Given the description of an element on the screen output the (x, y) to click on. 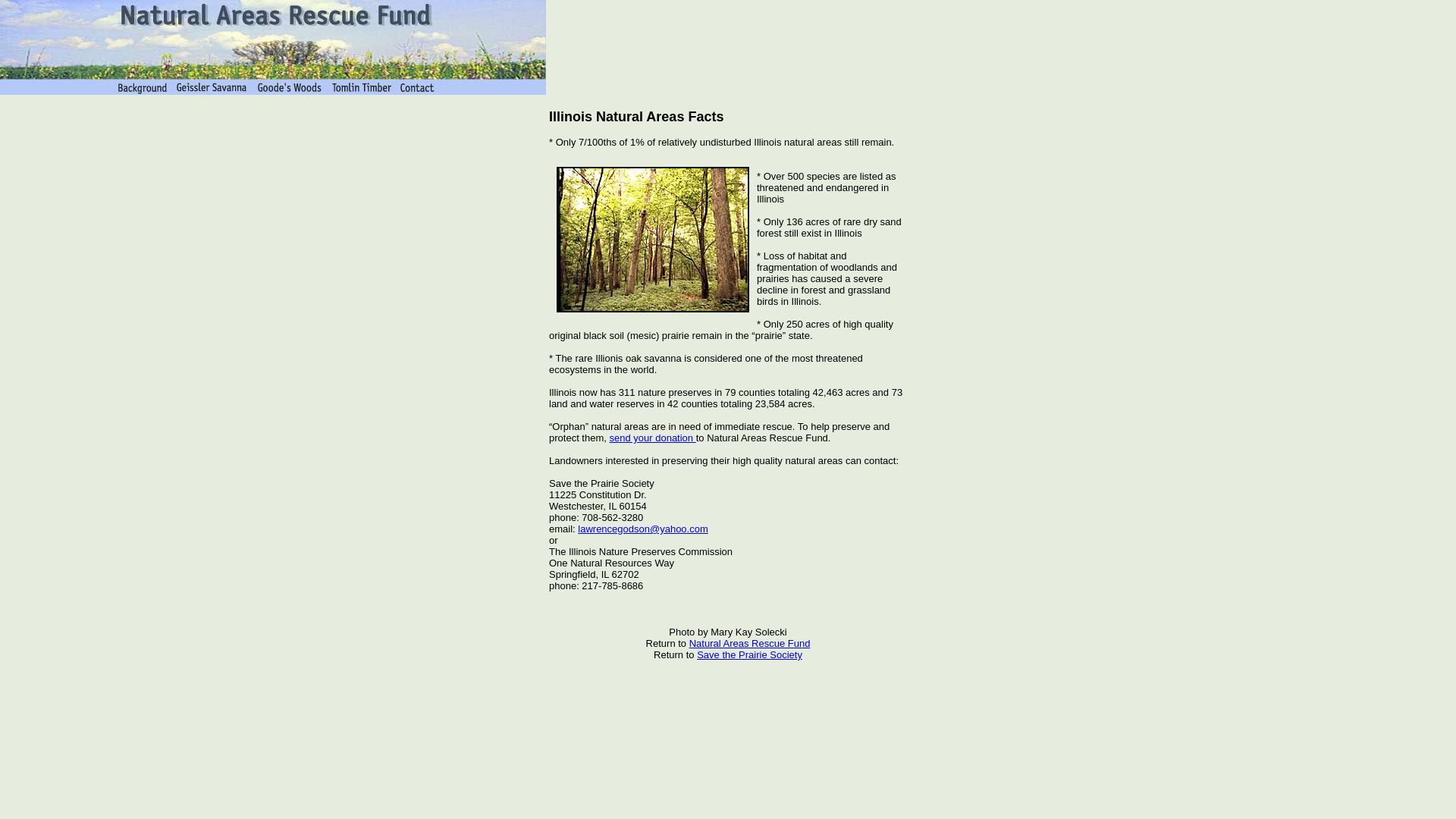
send your donation (651, 437)
Save the Prairie Society (749, 654)
Natural Areas Rescue Fund (749, 643)
